Given the description of an element on the screen output the (x, y) to click on. 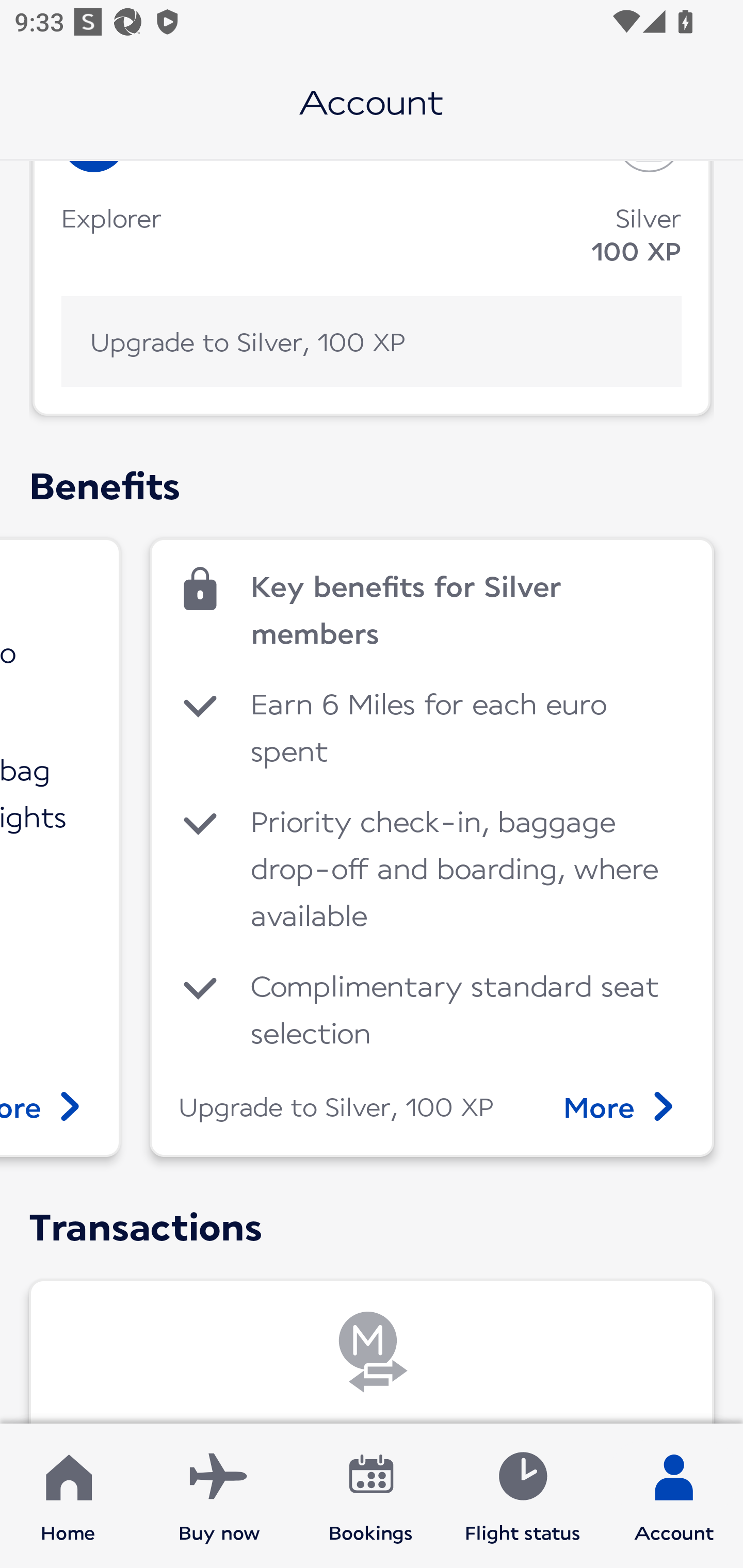
Explorer Silver 100 XP Upgrade to Silver, 100 XP (371, 288)
Home (68, 1495)
Buy now (219, 1495)
Bookings (370, 1495)
Flight status (522, 1495)
